Given the description of an element on the screen output the (x, y) to click on. 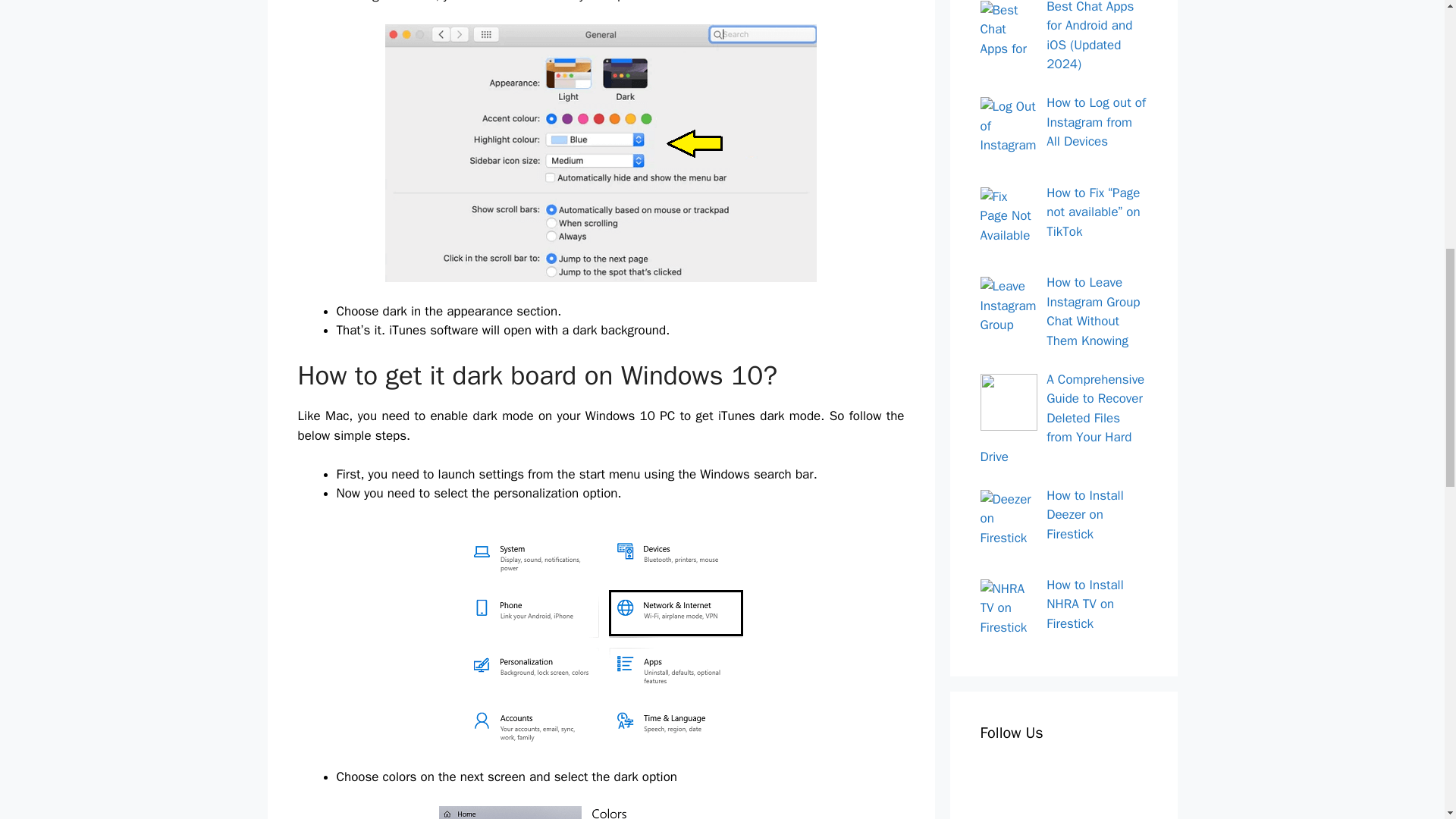
How to Log out of Instagram from All Devices (1095, 122)
How to Install Deezer on Firestick (1085, 514)
How to Install NHRA TV on Firestick (1085, 604)
How to Leave Instagram Group Chat Without Them Knowing (1093, 311)
Pinterest (1079, 785)
Twitter (1038, 785)
LinkedIn (1118, 785)
Facebook (997, 785)
